Given the description of an element on the screen output the (x, y) to click on. 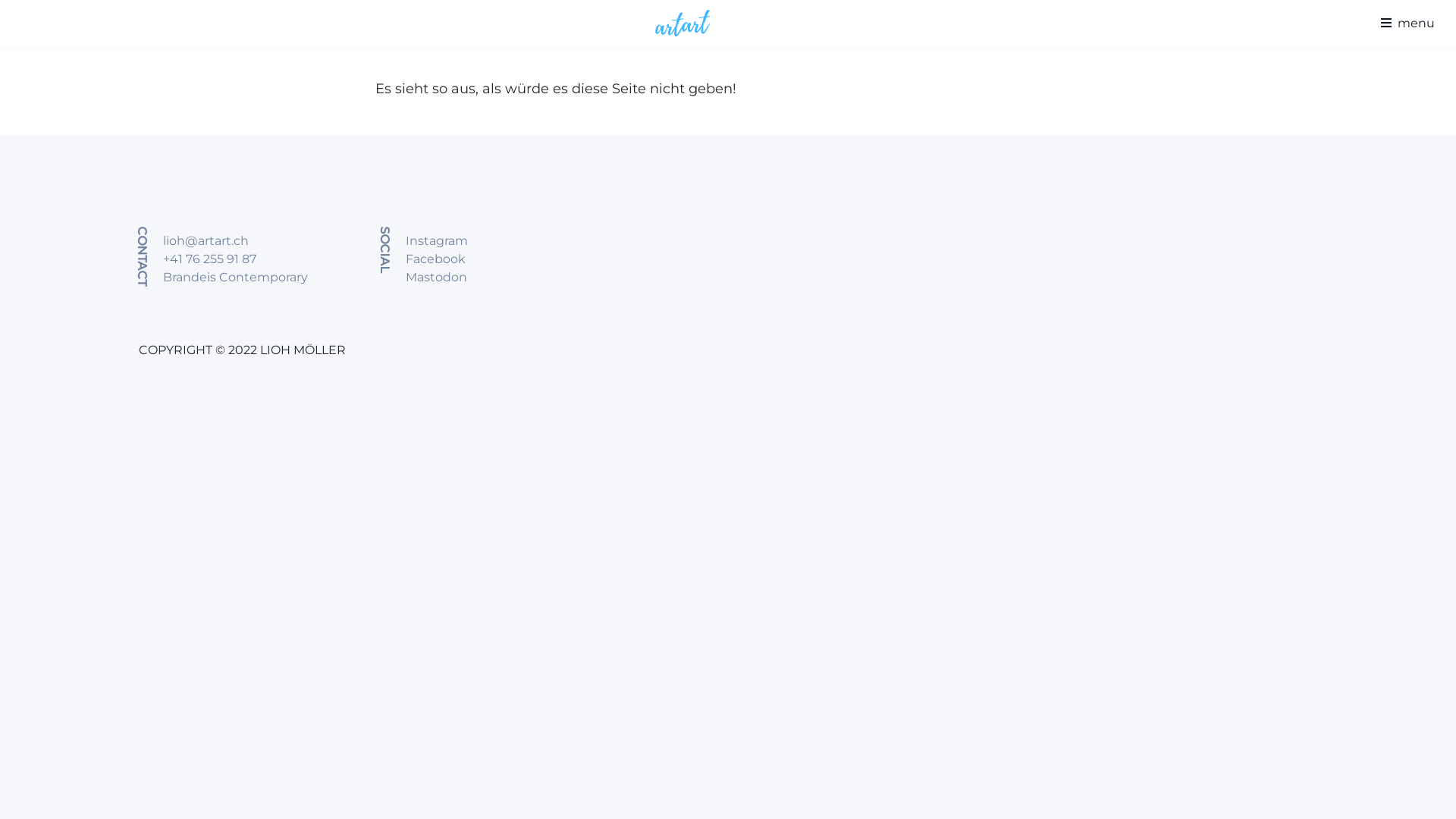
Facebook Element type: text (435, 258)
Instagram Element type: text (436, 240)
Mastodon Element type: text (436, 276)
+41 76 255 91 87 Element type: text (209, 258)
menu Element type: text (1404, 22)
lioh@artart.ch Element type: text (205, 240)
Brandeis Contemporary Element type: text (235, 276)
